Given the description of an element on the screen output the (x, y) to click on. 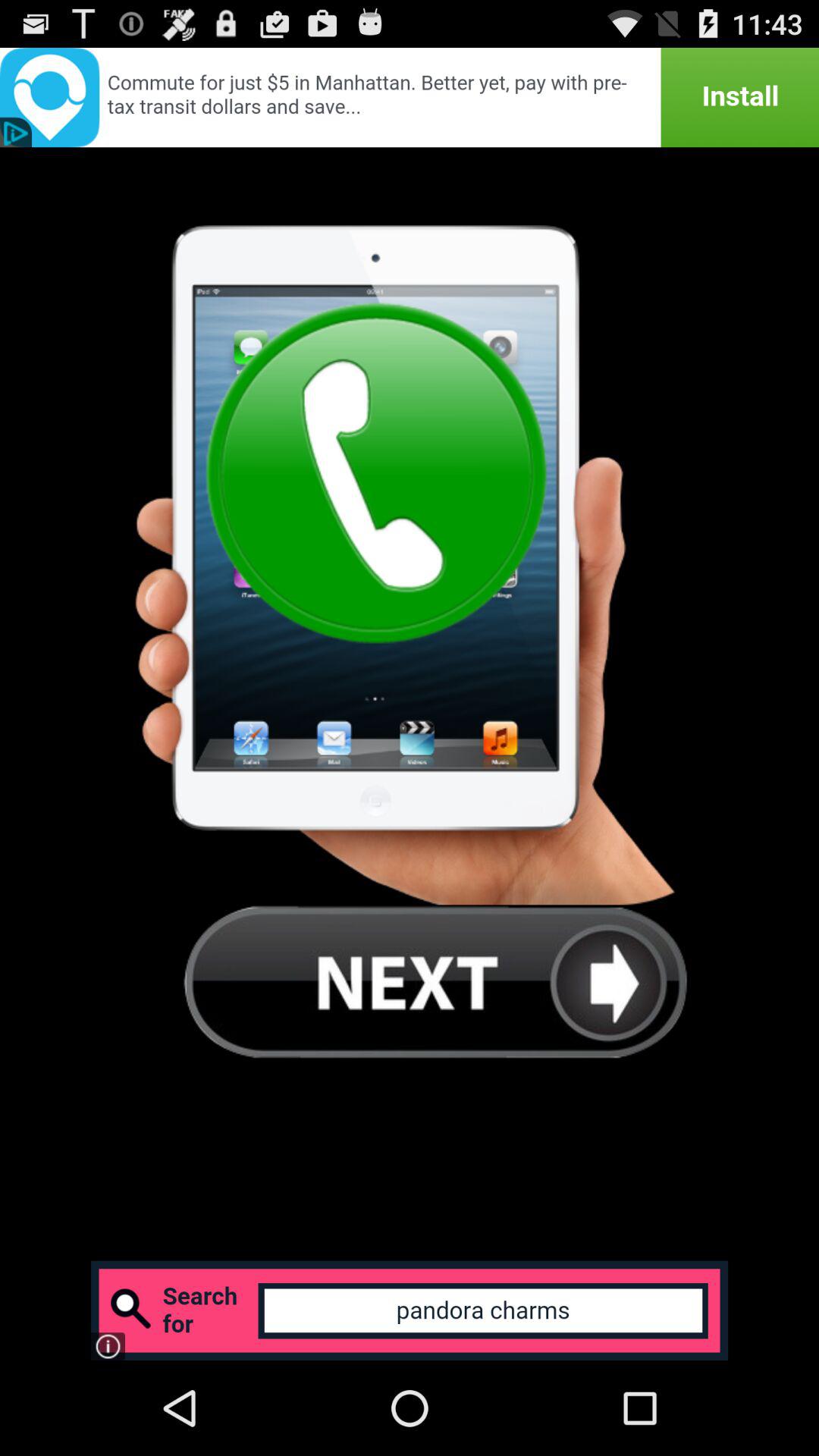
next (435, 981)
